Given the description of an element on the screen output the (x, y) to click on. 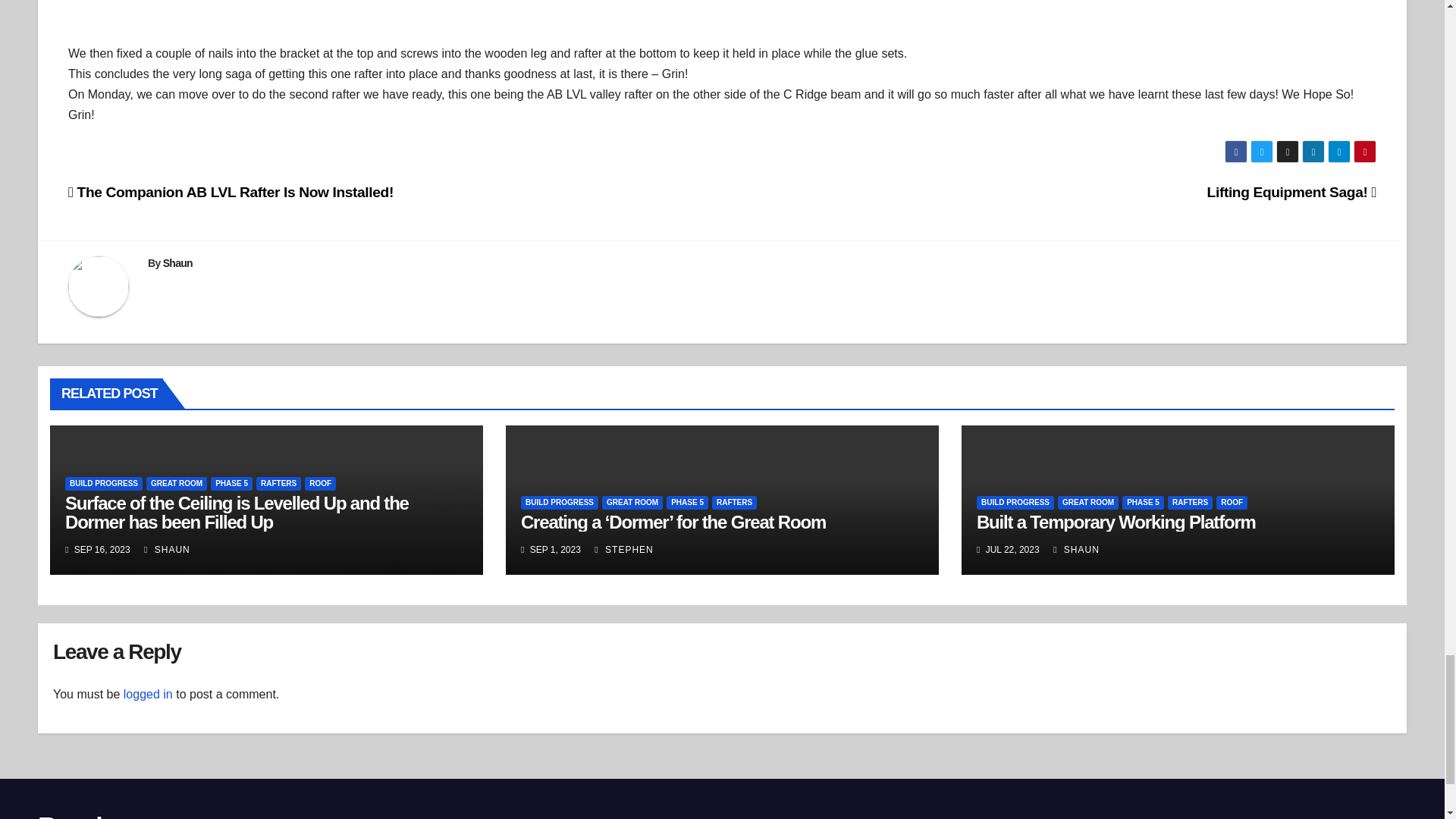
Permalink to: Built a Temporary Working Platform (1115, 521)
